Given the description of an element on the screen output the (x, y) to click on. 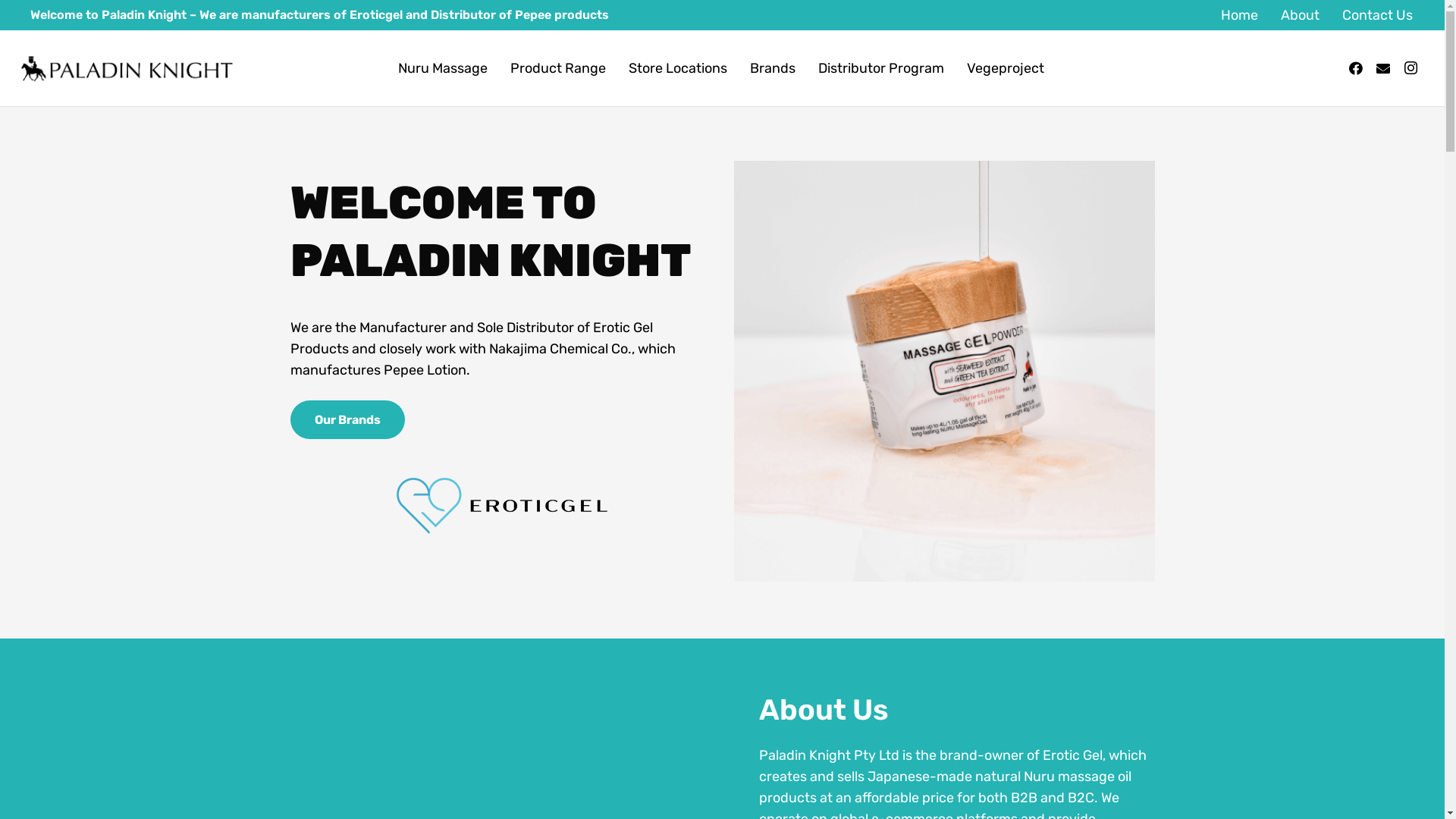
Product Range Element type: text (557, 68)
Instagram Element type: hover (1410, 67)
Brands Element type: text (772, 68)
Nuru Massage Element type: text (442, 68)
Our Brands Element type: text (346, 419)
Home Element type: text (1239, 15)
Vegeproject Element type: text (1005, 68)
Contact Us Element type: text (1377, 15)
Facebook Element type: hover (1355, 67)
About Element type: text (1299, 15)
Distributor Program Element type: text (880, 68)
Store Locations Element type: text (677, 68)
Email Element type: hover (1382, 67)
